Given the description of an element on the screen output the (x, y) to click on. 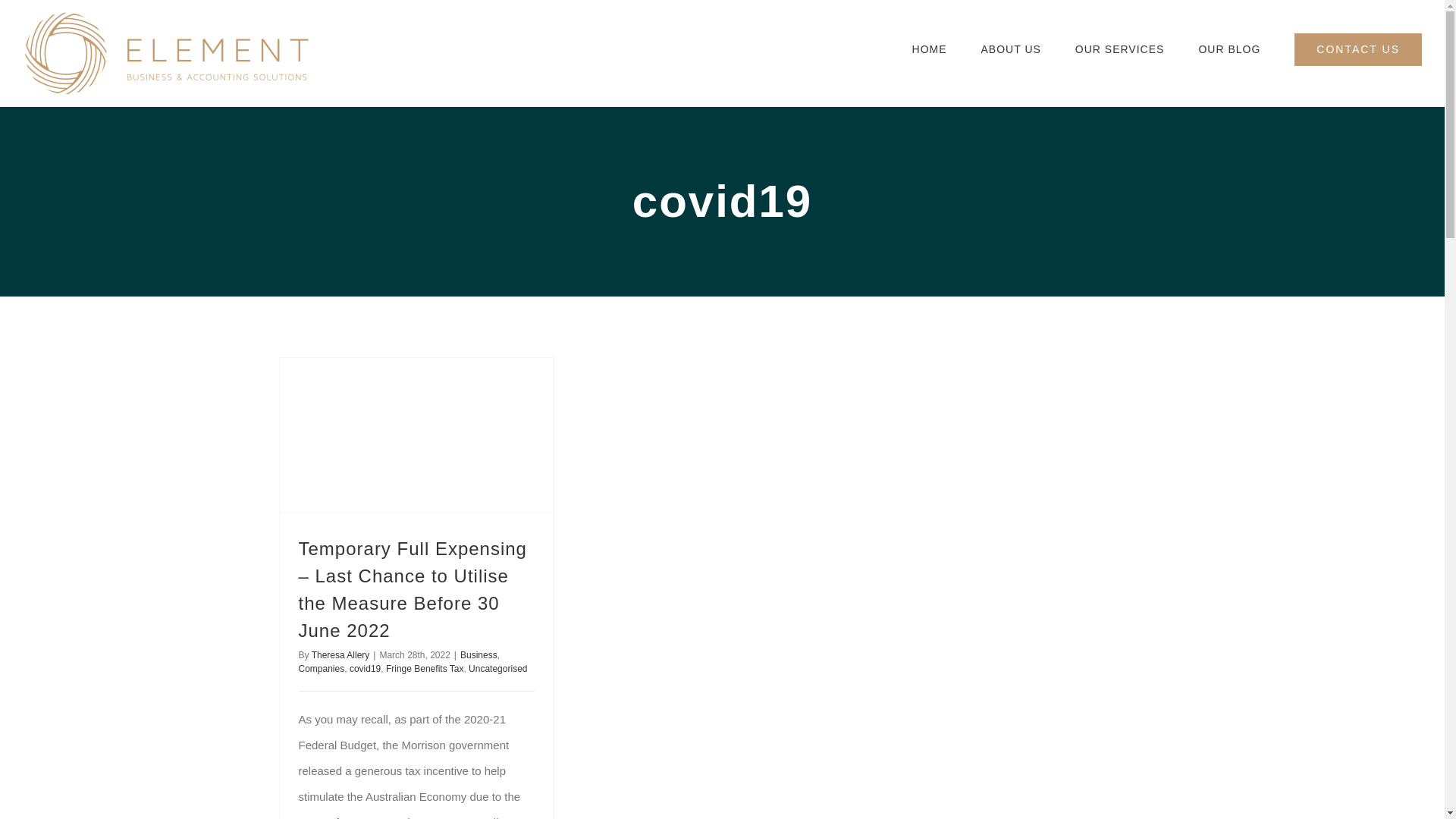
Theresa Allery (340, 655)
covid19 (364, 668)
OUR SERVICES (1119, 49)
CONTACT US (1358, 49)
Fringe Benefits Tax (424, 668)
Uncategorised (497, 668)
Companies (321, 668)
Business (478, 655)
Posts by Theresa Allery (340, 655)
